Given the description of an element on the screen output the (x, y) to click on. 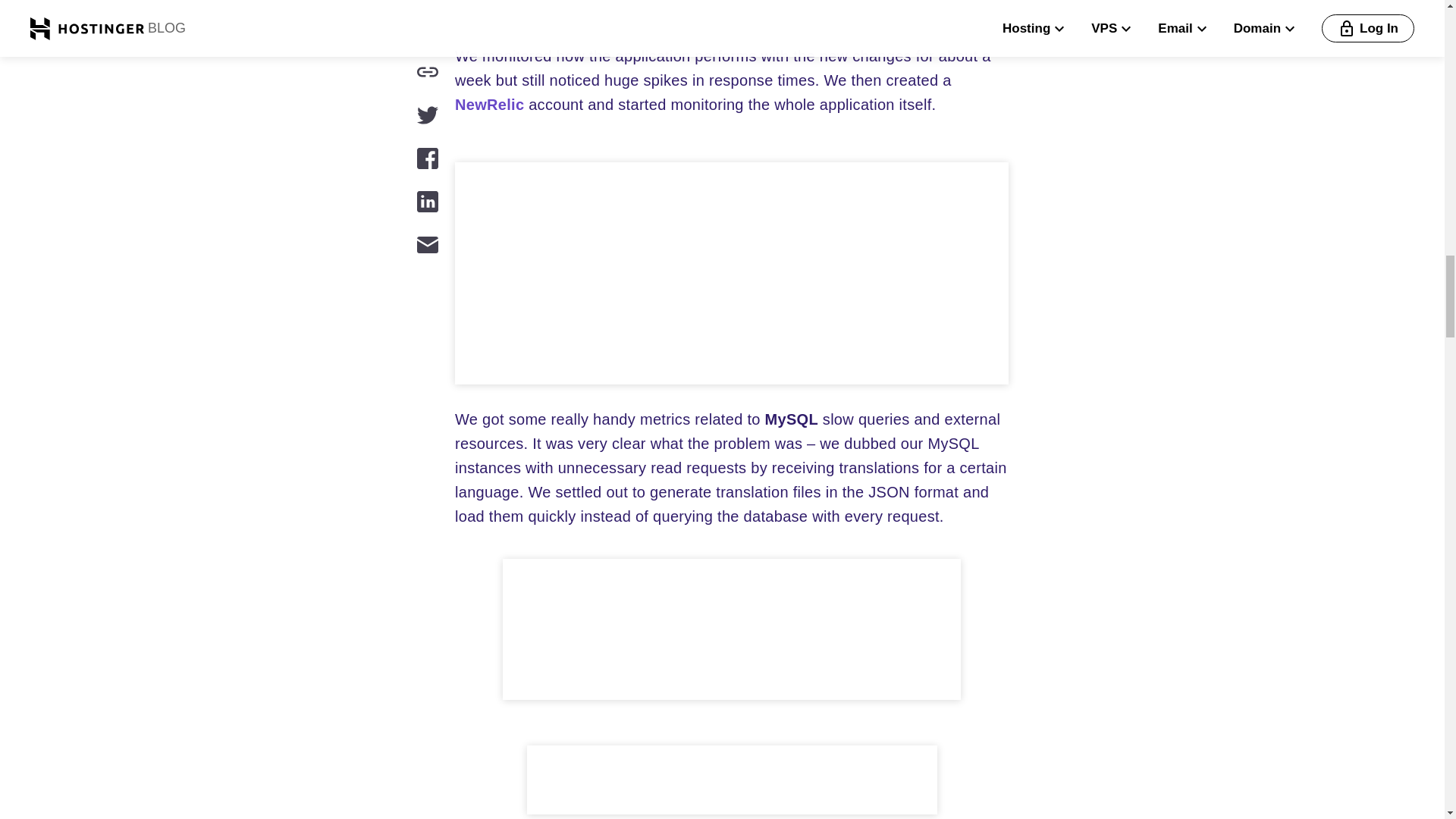
NewRelic (489, 104)
